Given the description of an element on the screen output the (x, y) to click on. 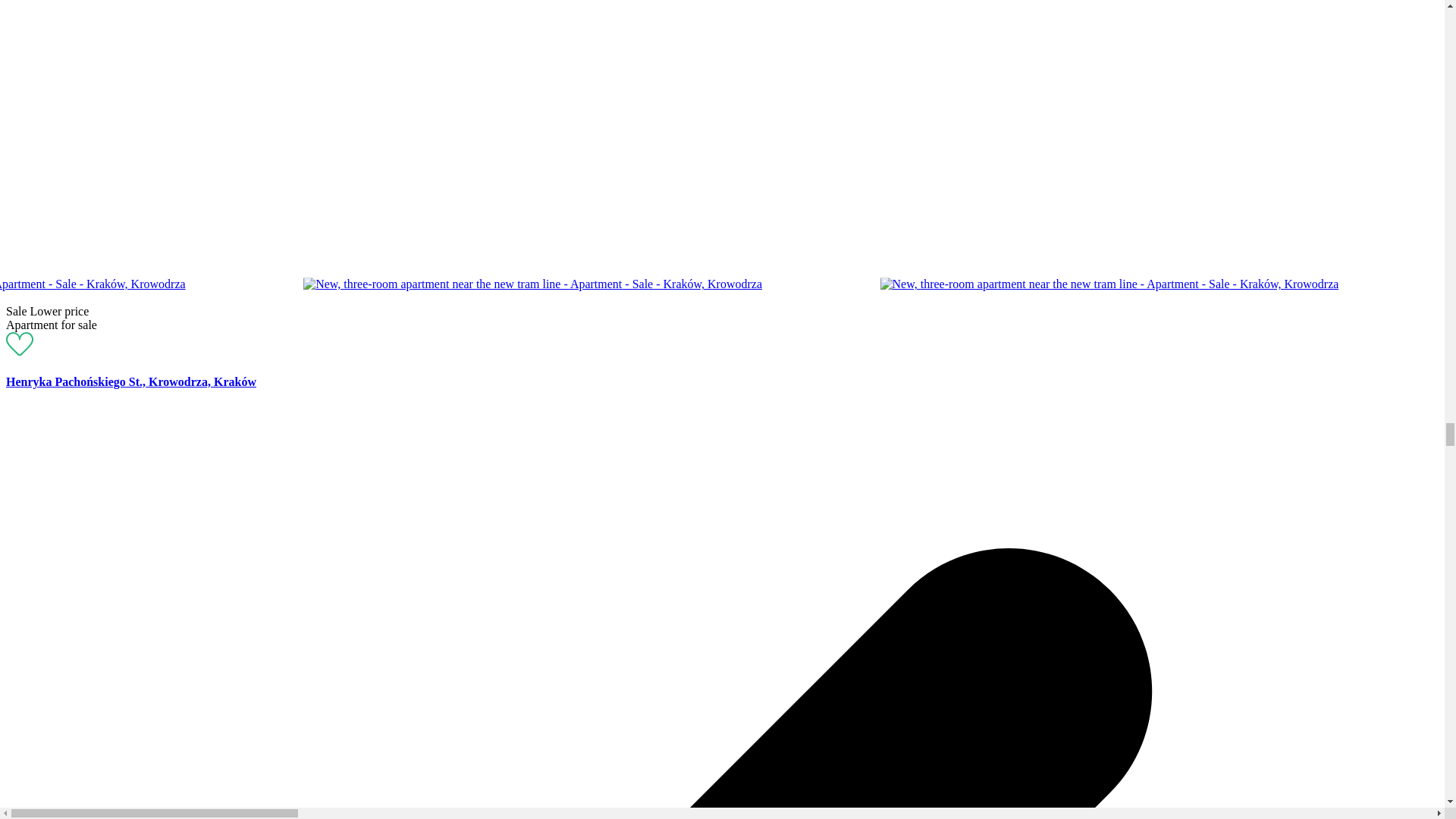
Add offer to favorites (19, 350)
